Given the description of an element on the screen output the (x, y) to click on. 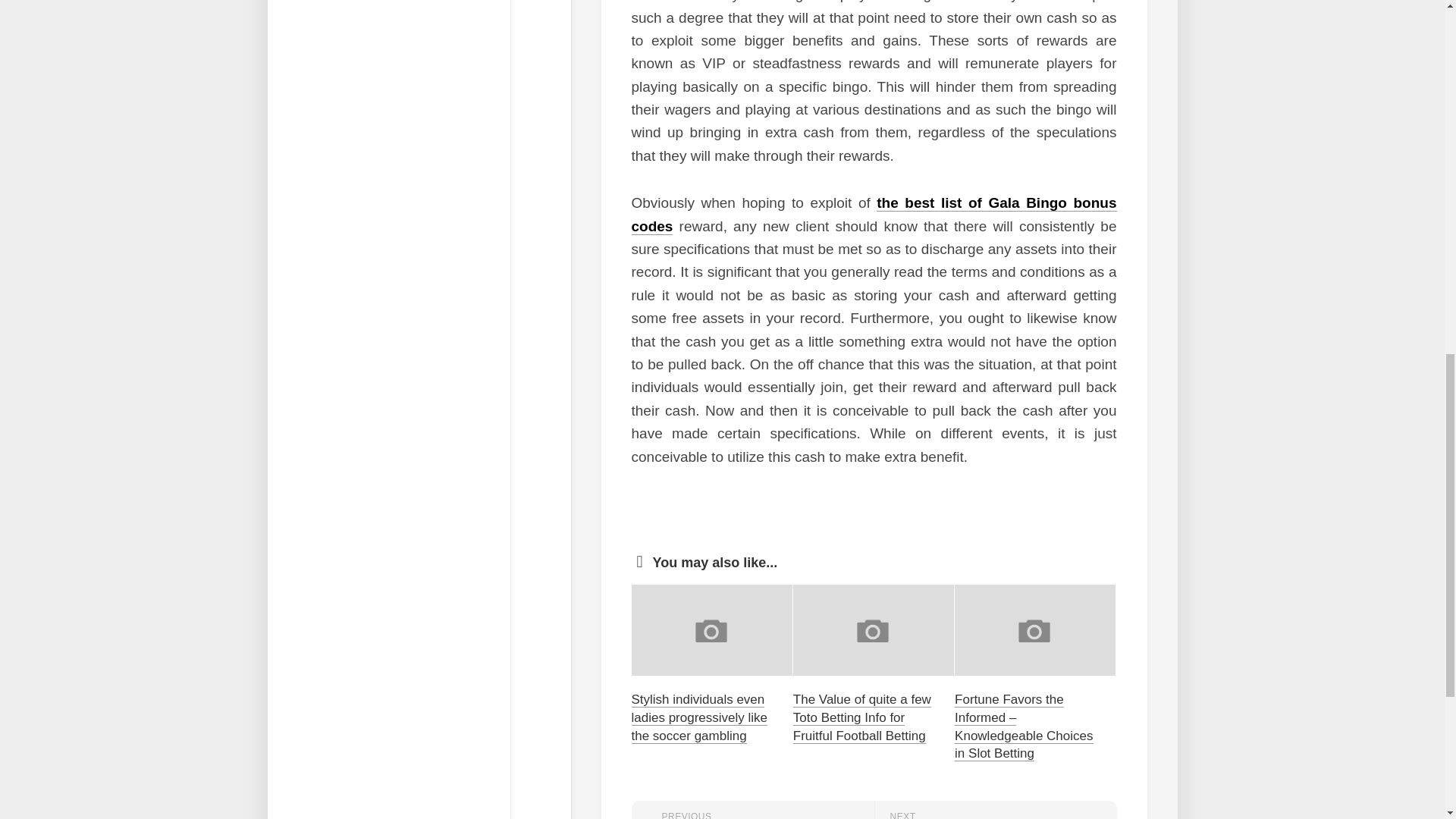
the best list of Gala Bingo bonus codes (994, 809)
